Given the description of an element on the screen output the (x, y) to click on. 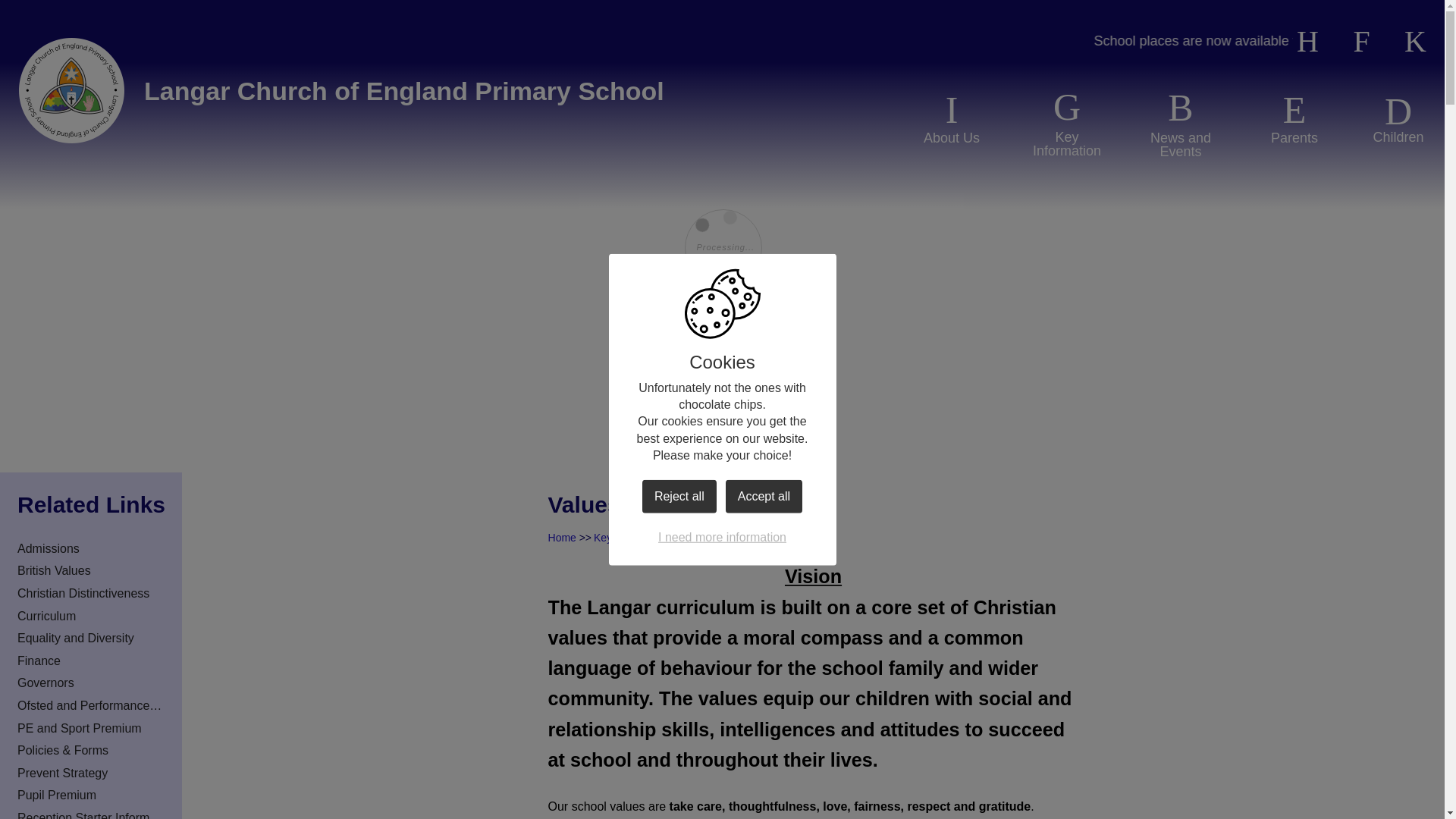
Home Page (71, 90)
Home Page (71, 90)
Log in (1414, 41)
Key Information (1067, 122)
